Given the description of an element on the screen output the (x, y) to click on. 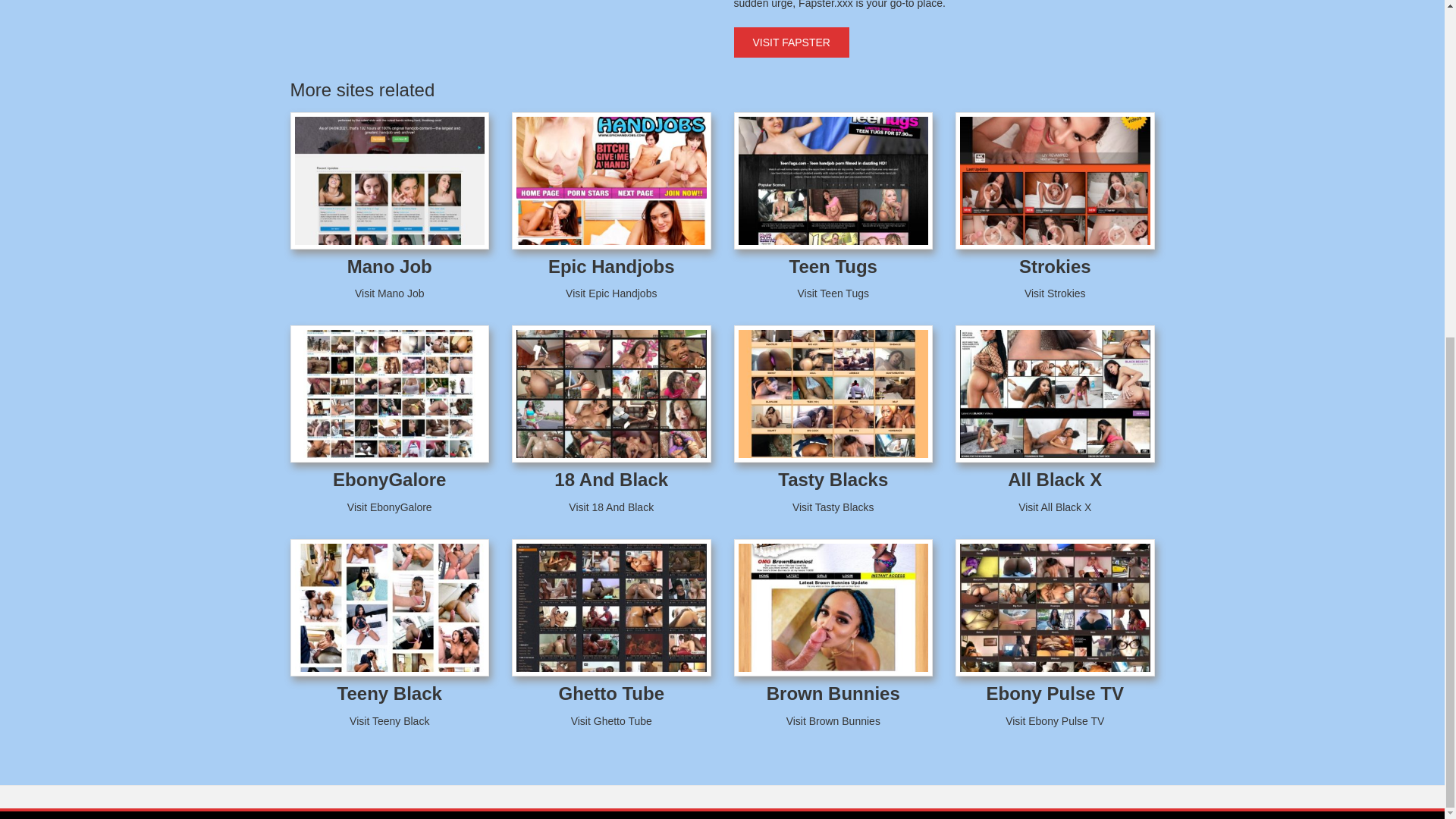
Visit Teeny Black (389, 720)
Strokies (1054, 266)
EbonyGalore (389, 479)
Brown Bunnies (833, 693)
Visit Strokies (1055, 293)
Epic Handjobs (611, 266)
Ebony Pulse TV (1055, 693)
Visit Brown Bunnies (833, 720)
18 And Black (611, 479)
Visit All Black X (1053, 507)
Visit EbonyGalore (389, 507)
Visit Teen Tugs (833, 293)
Teeny Black (389, 693)
All Black X (1054, 479)
Visit Epic Handjobs (611, 293)
